Given the description of an element on the screen output the (x, y) to click on. 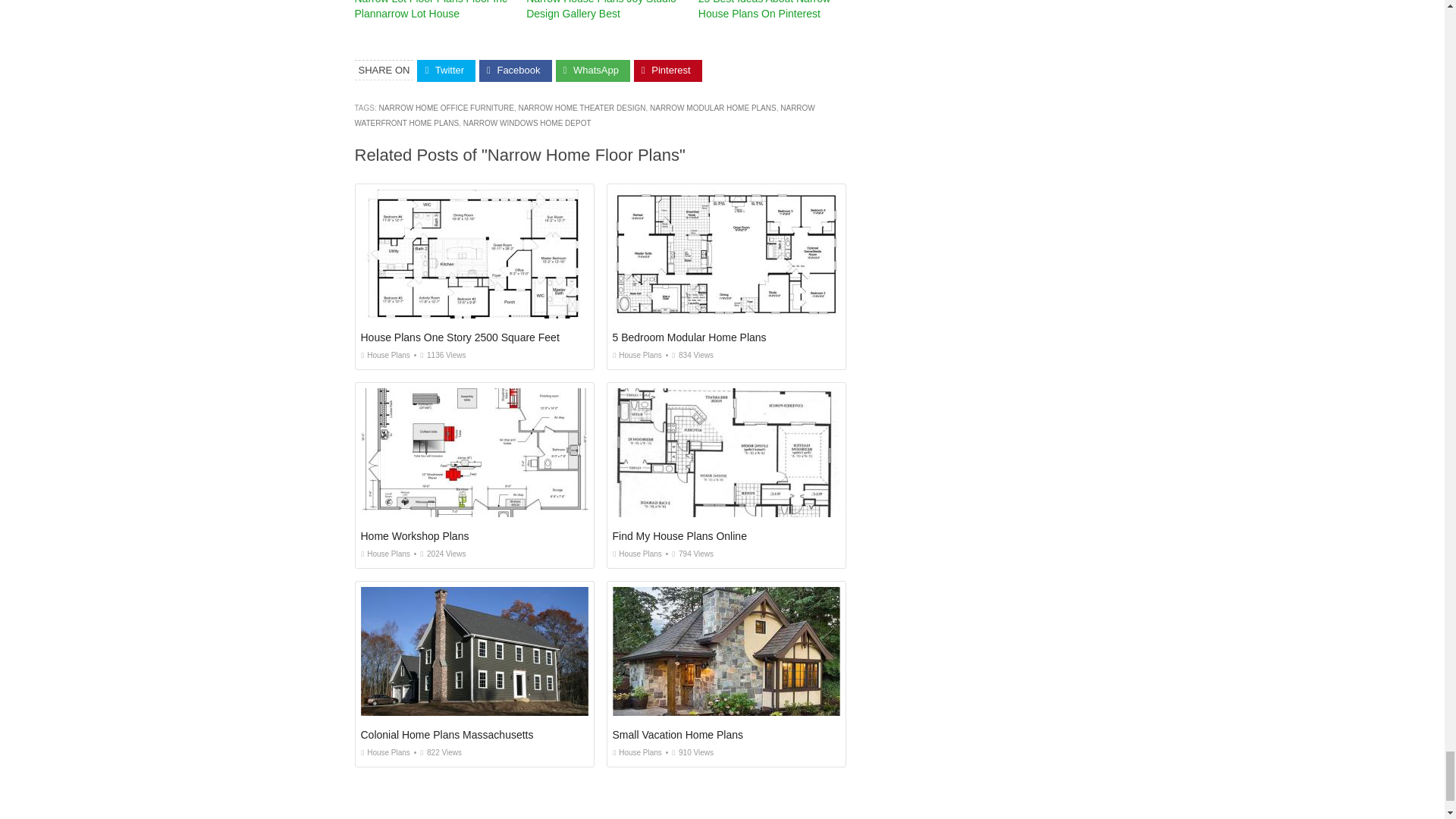
Pinterest (667, 70)
NARROW WINDOWS HOME DEPOT (527, 122)
NARROW WATERFRONT HOME PLANS (585, 115)
NARROW HOME THEATER DESIGN (581, 108)
House Plans (385, 355)
WhatsApp (593, 70)
House Plans One Story 2500 Square Feet (460, 337)
5 Bedroom Modular Home Plans (689, 337)
NARROW MODULAR HOME PLANS (712, 108)
House Plans (637, 355)
Facebook (515, 70)
NARROW HOME OFFICE FURNITURE (445, 108)
Twitter (446, 70)
